Given the description of an element on the screen output the (x, y) to click on. 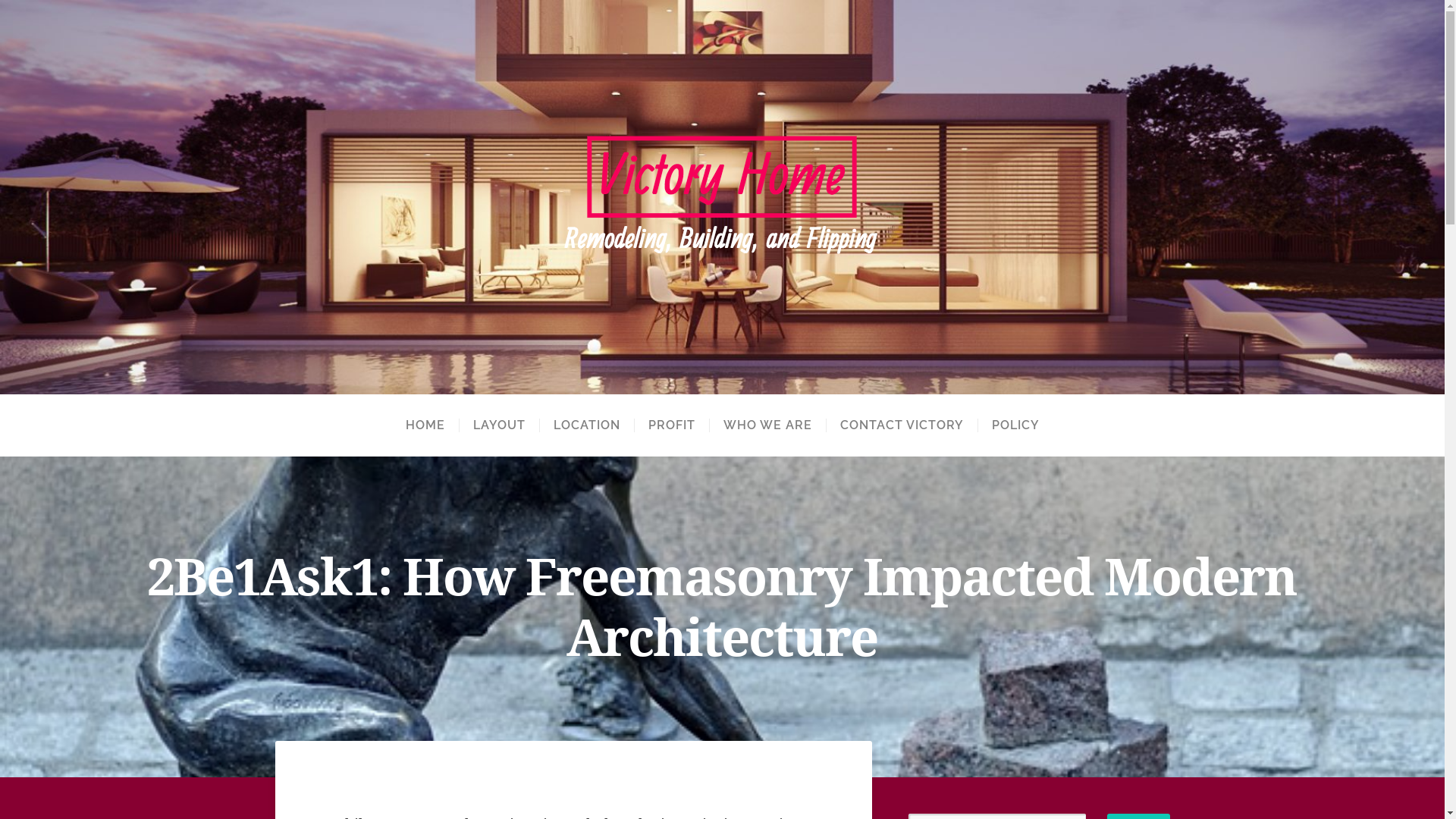
HOME Element type: text (424, 425)
LOCATION Element type: text (585, 425)
WHO WE ARE Element type: text (766, 425)
PROFIT Element type: text (671, 425)
Victory Home Element type: text (722, 196)
POLICY Element type: text (1014, 425)
CONTACT VICTORY Element type: text (900, 425)
LAYOUT Element type: text (498, 425)
